Given the description of an element on the screen output the (x, y) to click on. 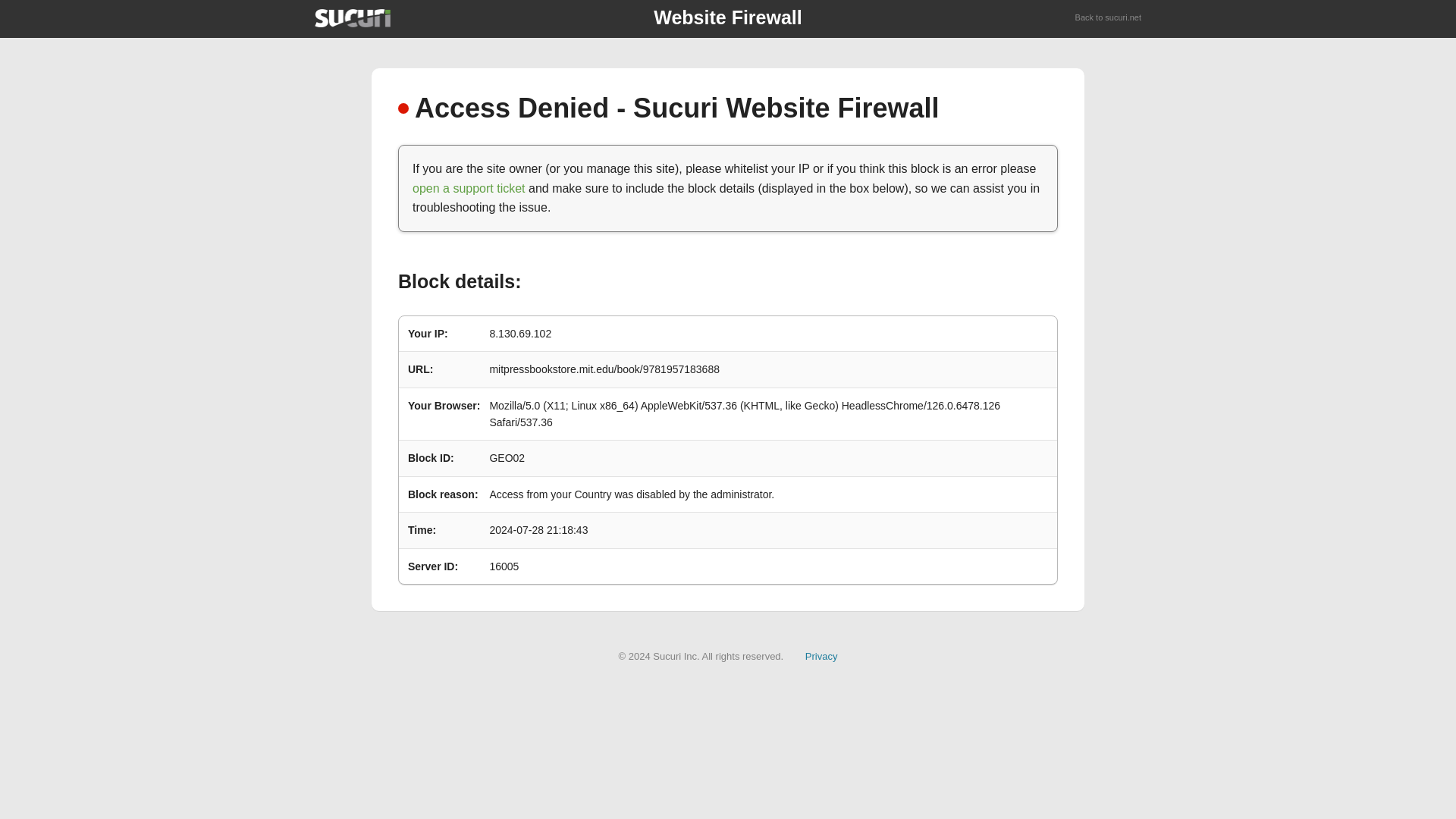
open a support ticket (468, 187)
Privacy (821, 655)
Back to sucuri.net (1108, 18)
